Given the description of an element on the screen output the (x, y) to click on. 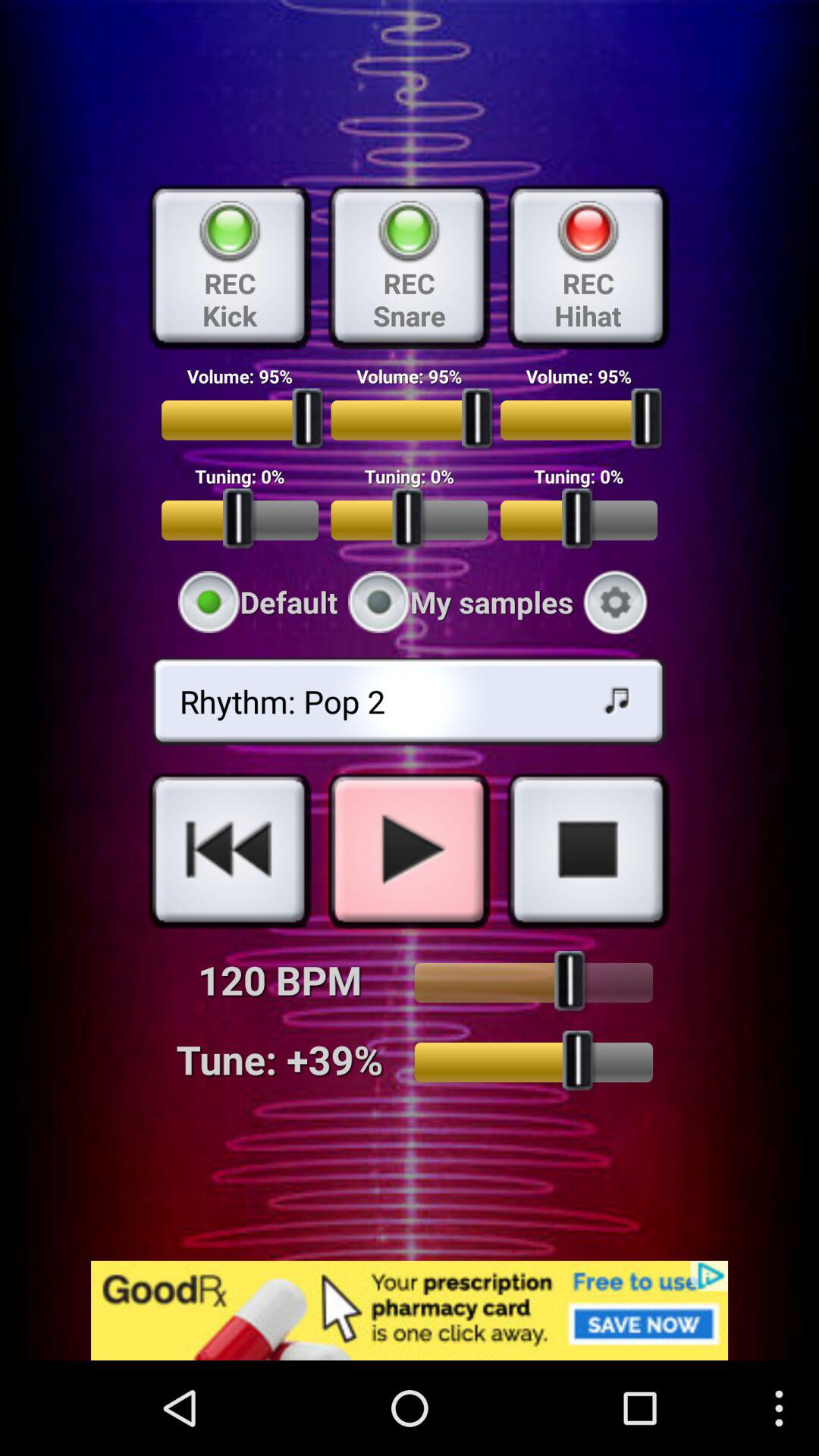
open advertisement (409, 1310)
